Given the description of an element on the screen output the (x, y) to click on. 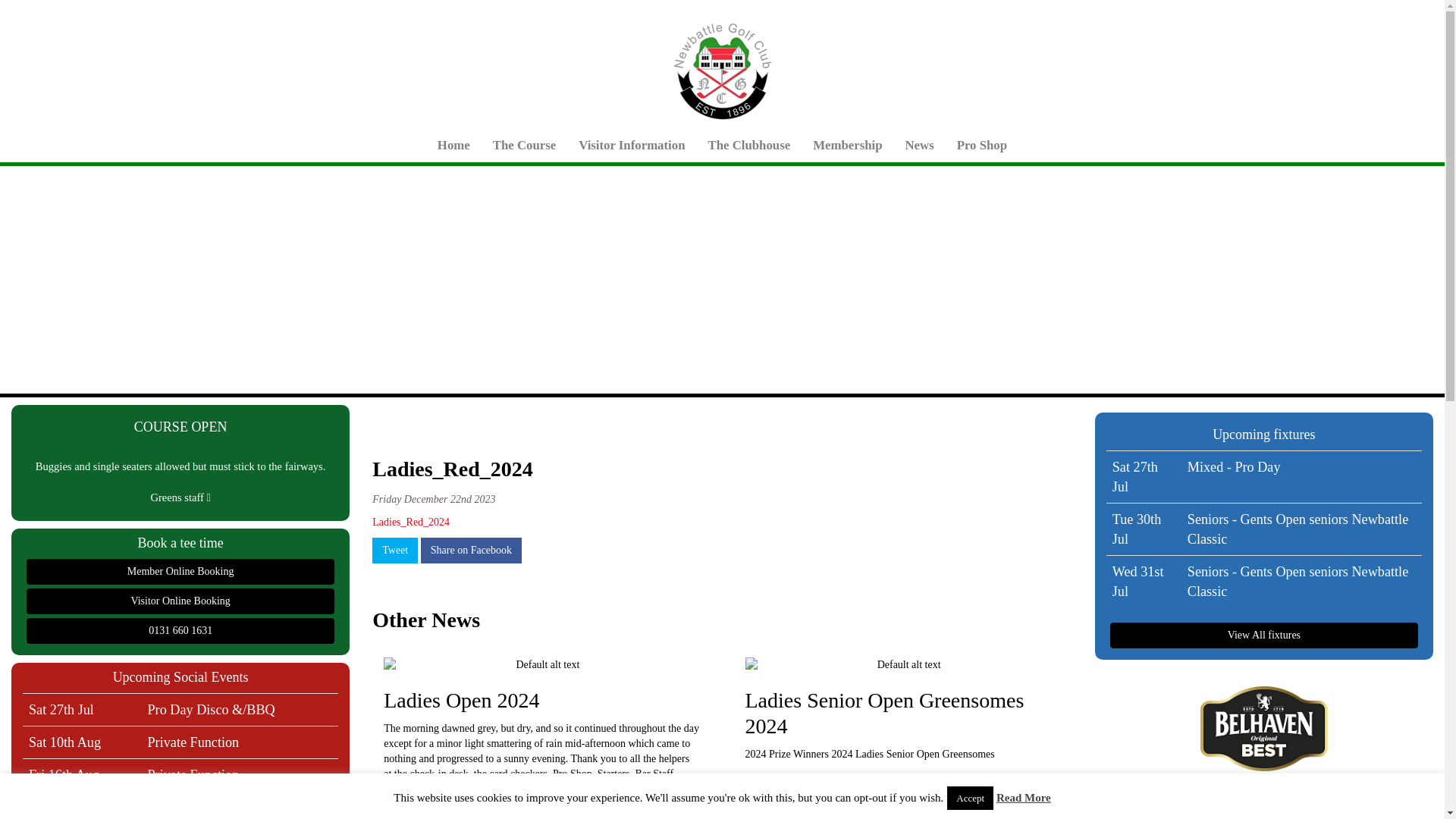
The Clubhouse (748, 144)
Pro Shop (980, 144)
Home (453, 144)
0131 660 1631 (180, 630)
The Course (524, 144)
Member Online Booking (180, 571)
Visitor Information (631, 144)
Visitor Online Booking (180, 601)
Newbattle Open Mixed Greensomes 2024 (541, 811)
Share on Facebook (470, 550)
Ladies Senior Open Greensomes 2024 (901, 690)
Tweet (394, 550)
Ladies Open 2024 (541, 677)
Membership (847, 144)
View All Social Events (180, 812)
